Given the description of an element on the screen output the (x, y) to click on. 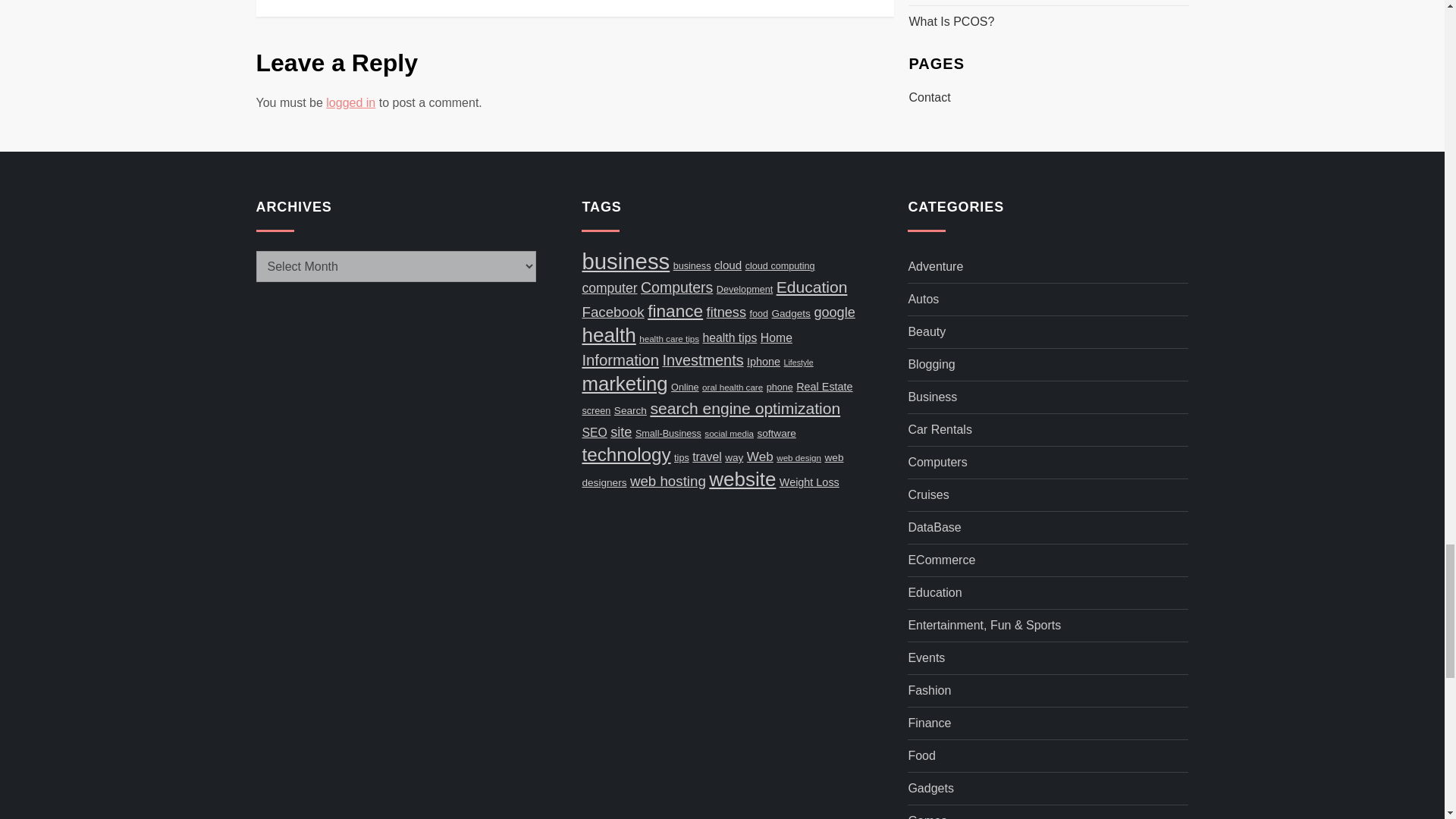
logged in (350, 102)
